Given the description of an element on the screen output the (x, y) to click on. 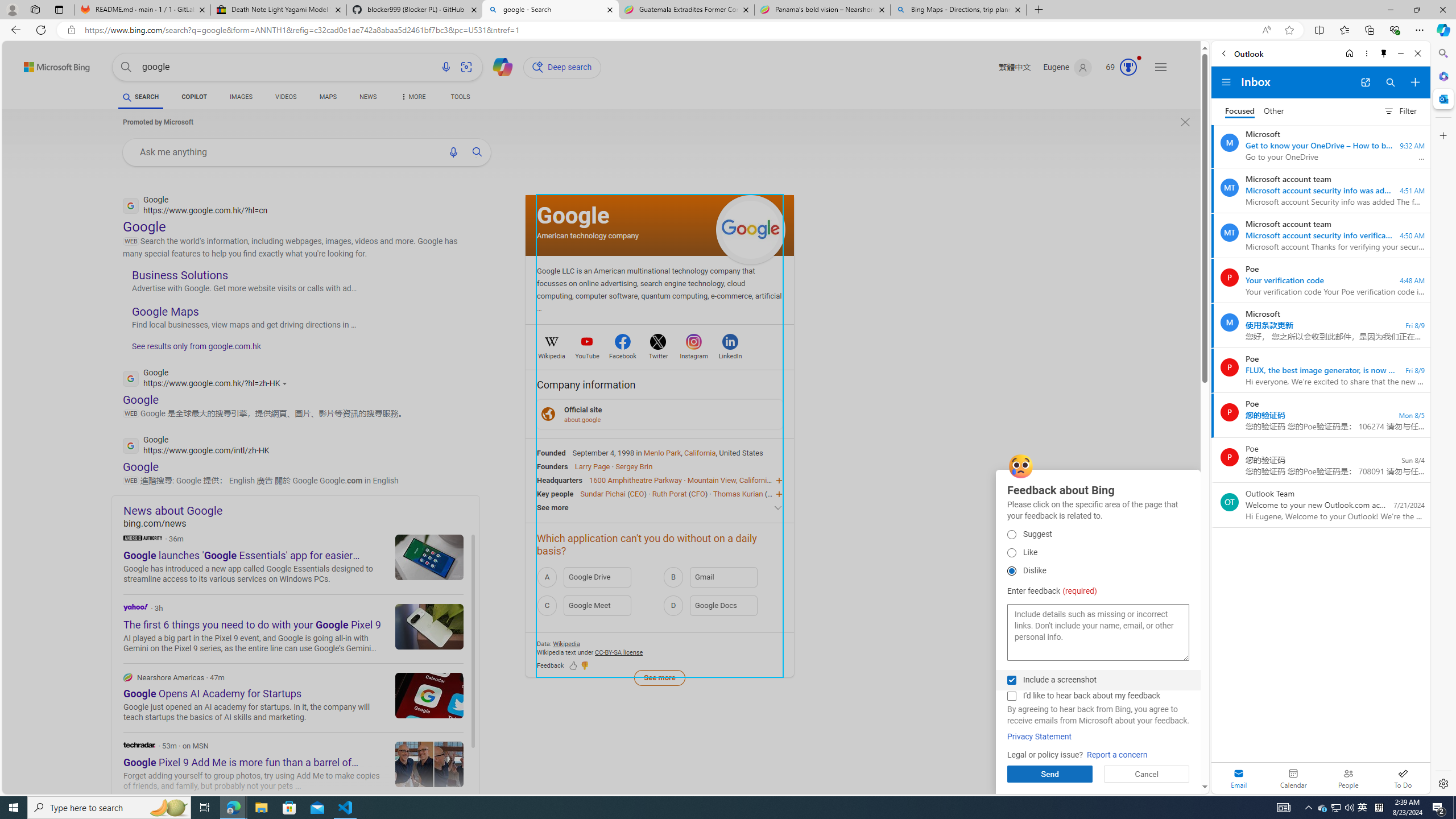
Suggest (1011, 533)
To Do (1402, 777)
Privacy Statement (1039, 737)
Calendar. Date today is 22 (1293, 777)
